Given the description of an element on the screen output the (x, y) to click on. 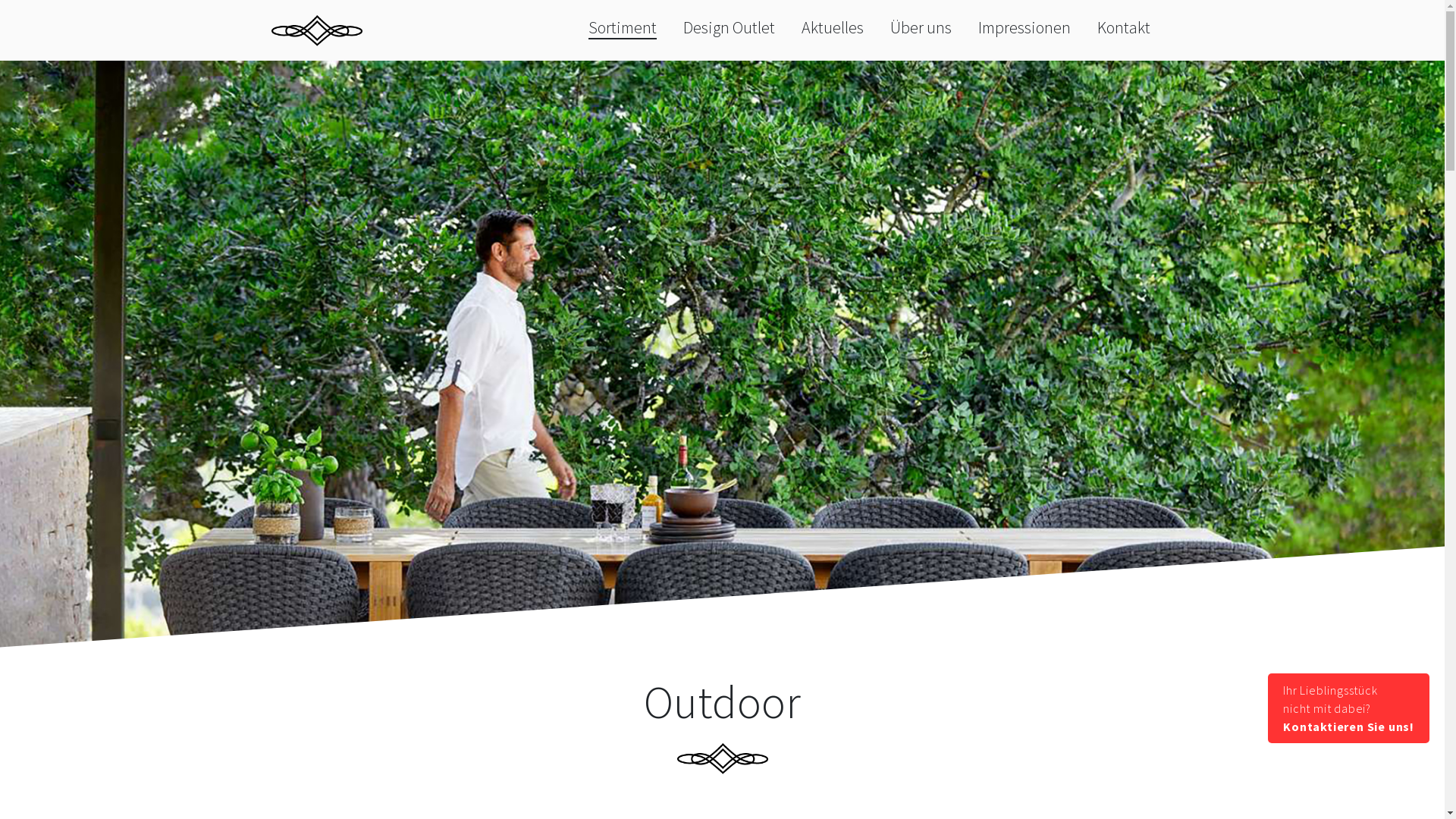
alineas Element type: hover (316, 29)
Kontakt Element type: text (1123, 26)
Aktuelles Element type: text (832, 26)
Design Outlet Element type: text (729, 26)
Sortiment Element type: text (622, 27)
Impressionen Element type: text (1024, 26)
